Given the description of an element on the screen output the (x, y) to click on. 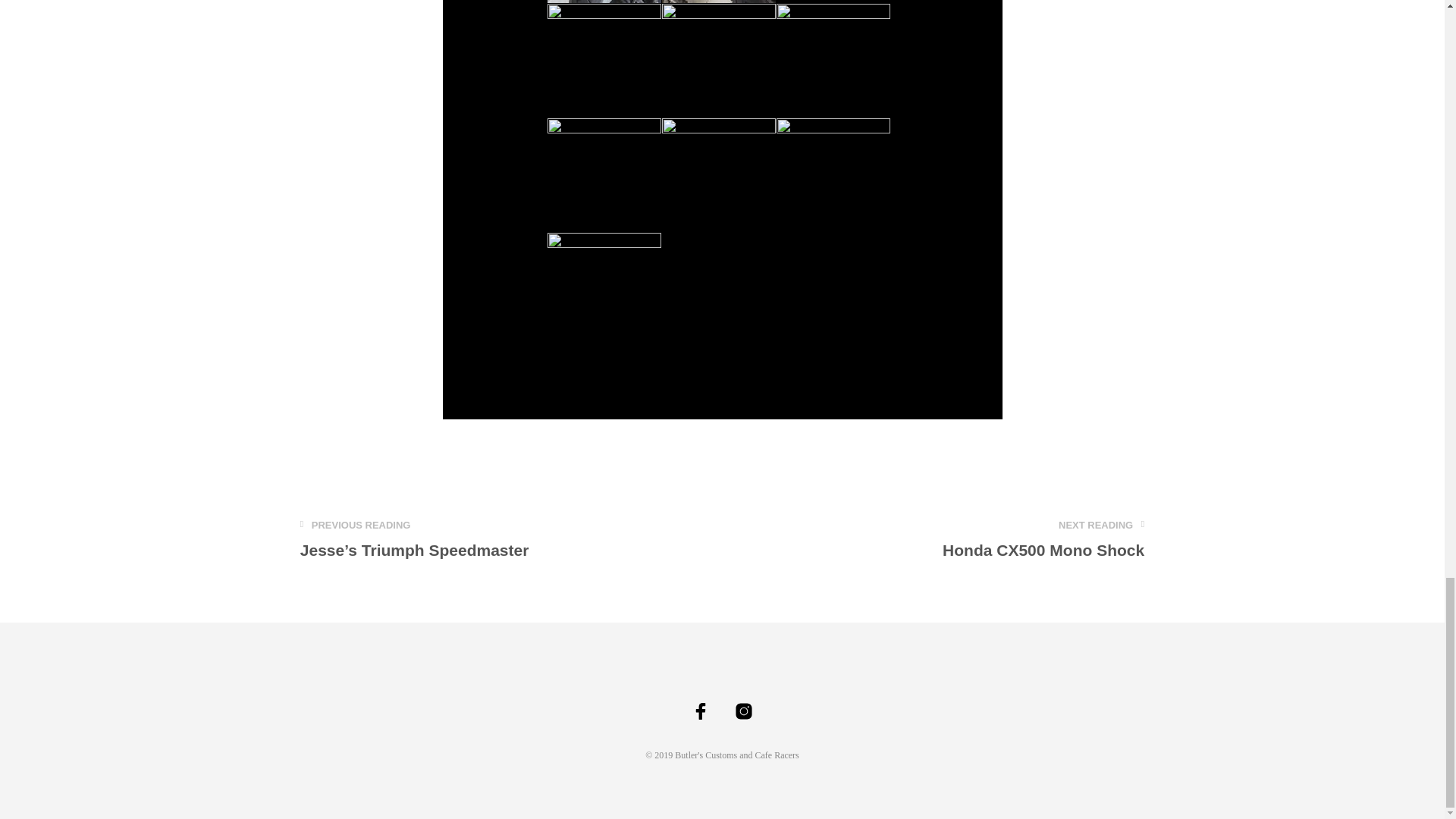
BC-Dec18-30 (1043, 540)
BC-Dec18-2 (832, 174)
BC-Dec18-5 (604, 289)
